Given the description of an element on the screen output the (x, y) to click on. 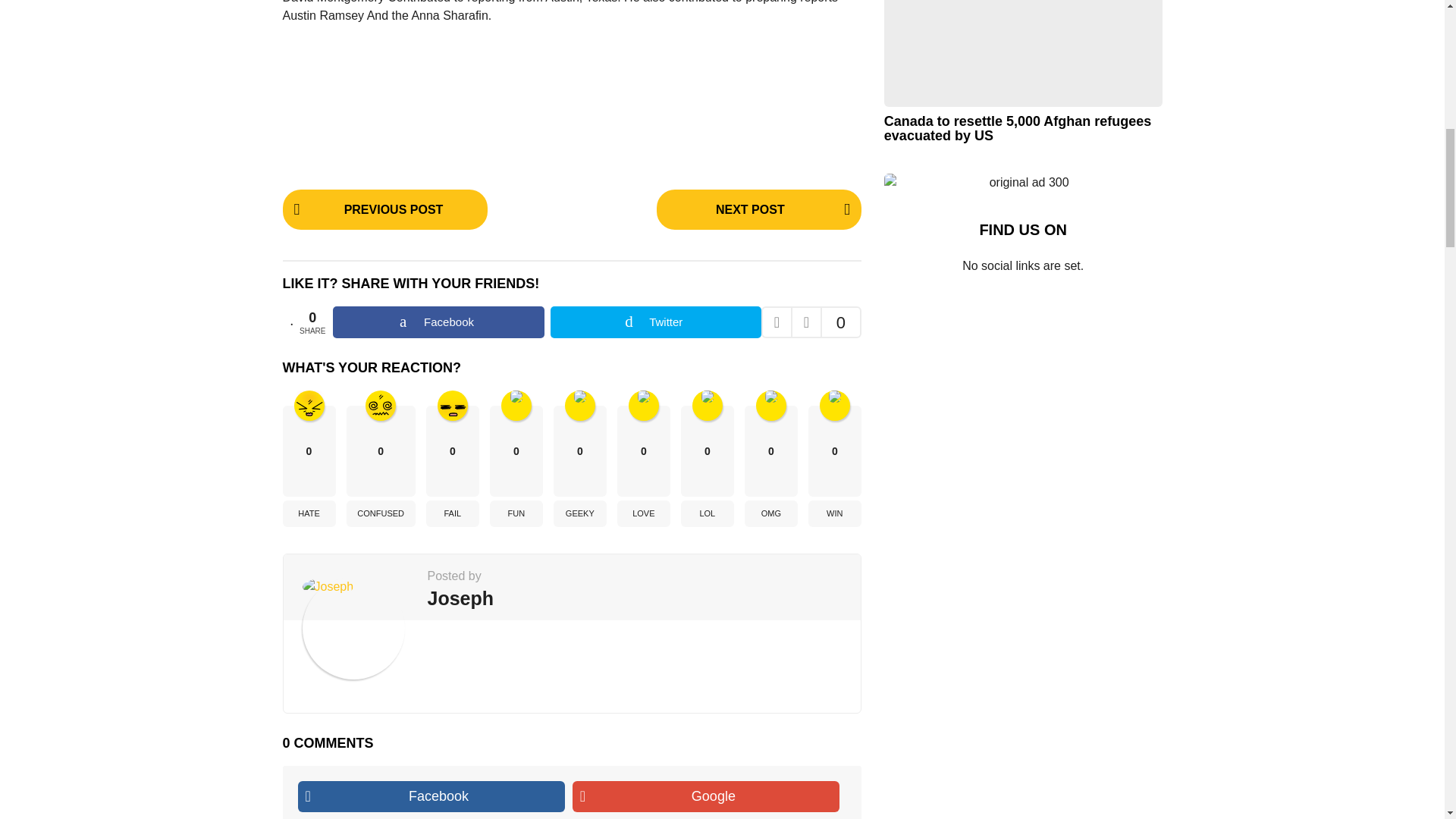
PREVIOUS POST (384, 209)
NEXT POST (758, 209)
CONFUSED (380, 513)
Facebook (438, 322)
Share on Twitter (655, 322)
Share on Facebook (438, 322)
Twitter (655, 322)
HATE (308, 513)
